Given the description of an element on the screen output the (x, y) to click on. 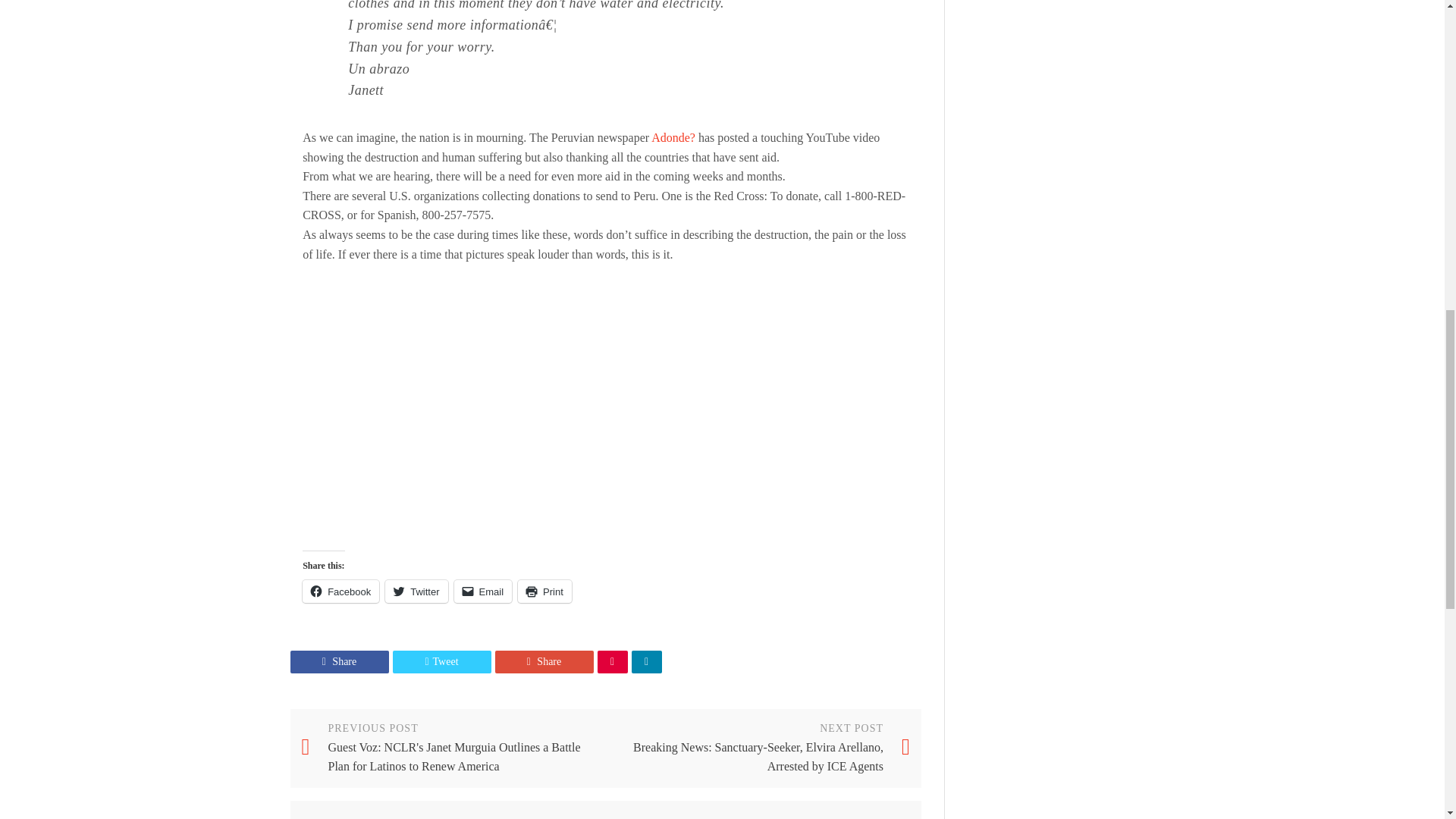
Click to email a link to a friend (483, 590)
Click to print (545, 590)
Click to share on Twitter (415, 590)
Click to share on Facebook (340, 590)
